Given the description of an element on the screen output the (x, y) to click on. 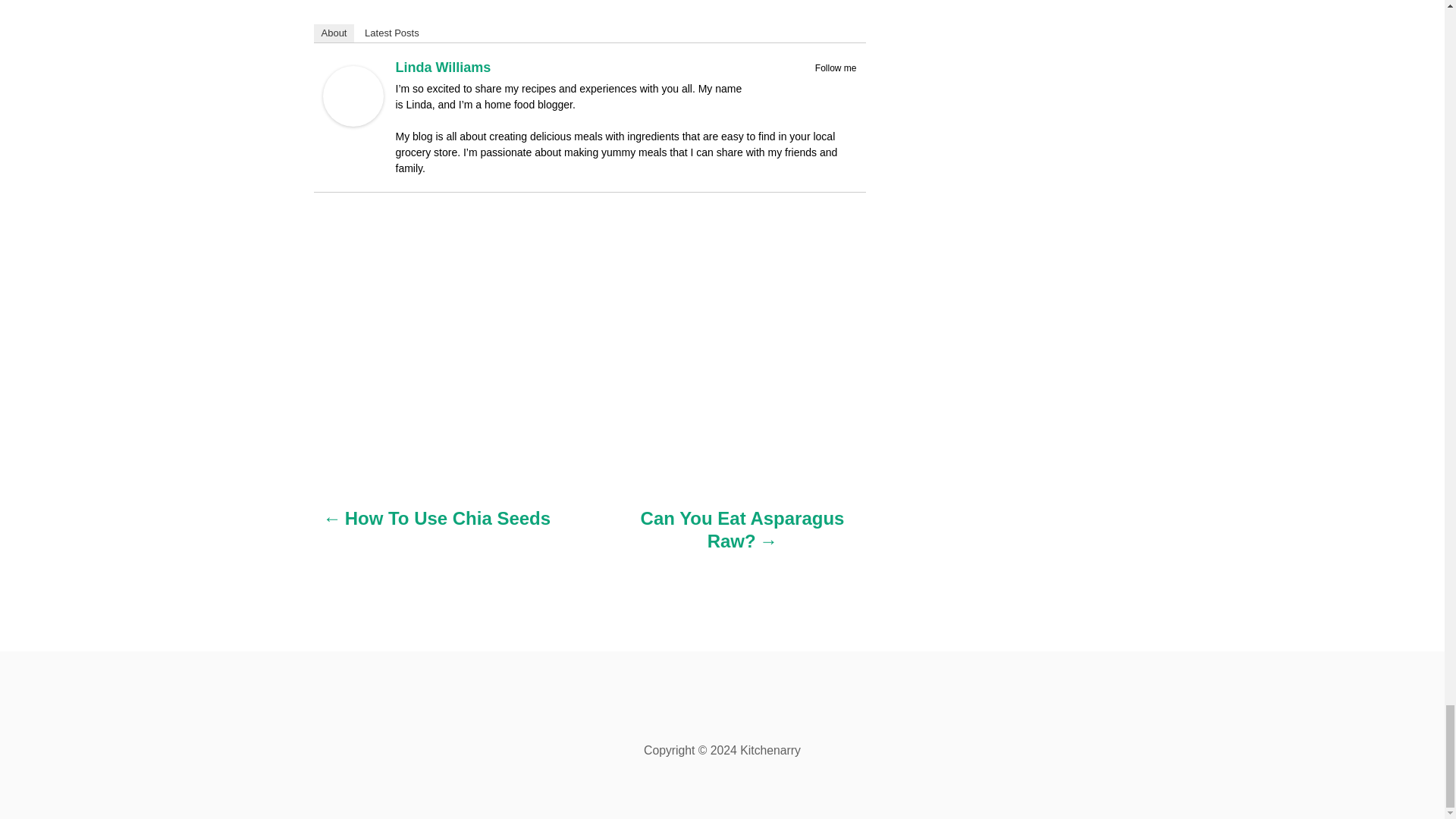
Linda Williams (444, 67)
Pinterest (825, 85)
Linda Williams (353, 121)
Facebook (806, 85)
YouTube (846, 85)
About (334, 33)
Can You Eat Asparagus Raw? (741, 537)
Latest Posts (391, 33)
How To Use Chia Seeds (437, 525)
